Given the description of an element on the screen output the (x, y) to click on. 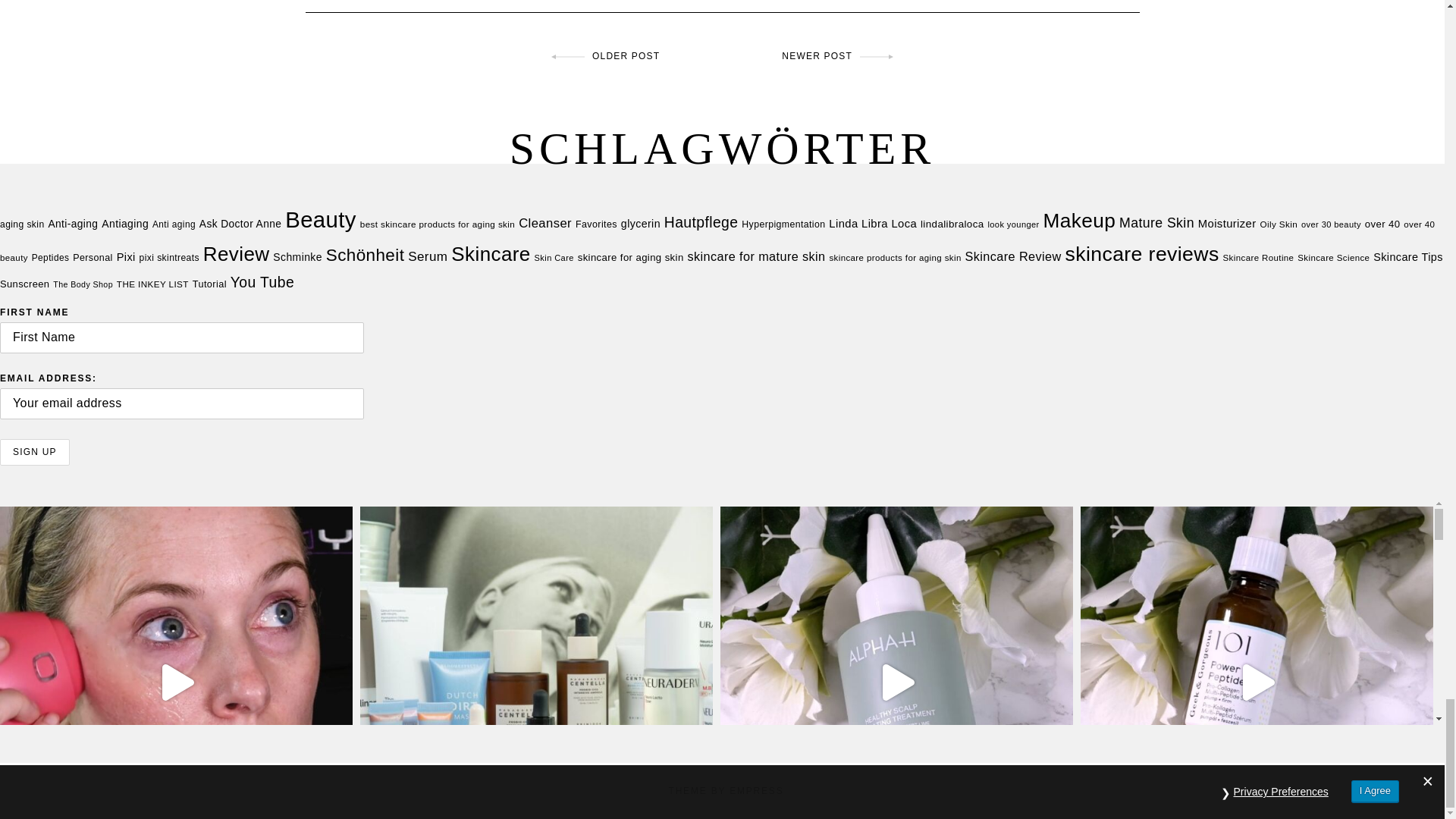
Sign up (34, 452)
